Given the description of an element on the screen output the (x, y) to click on. 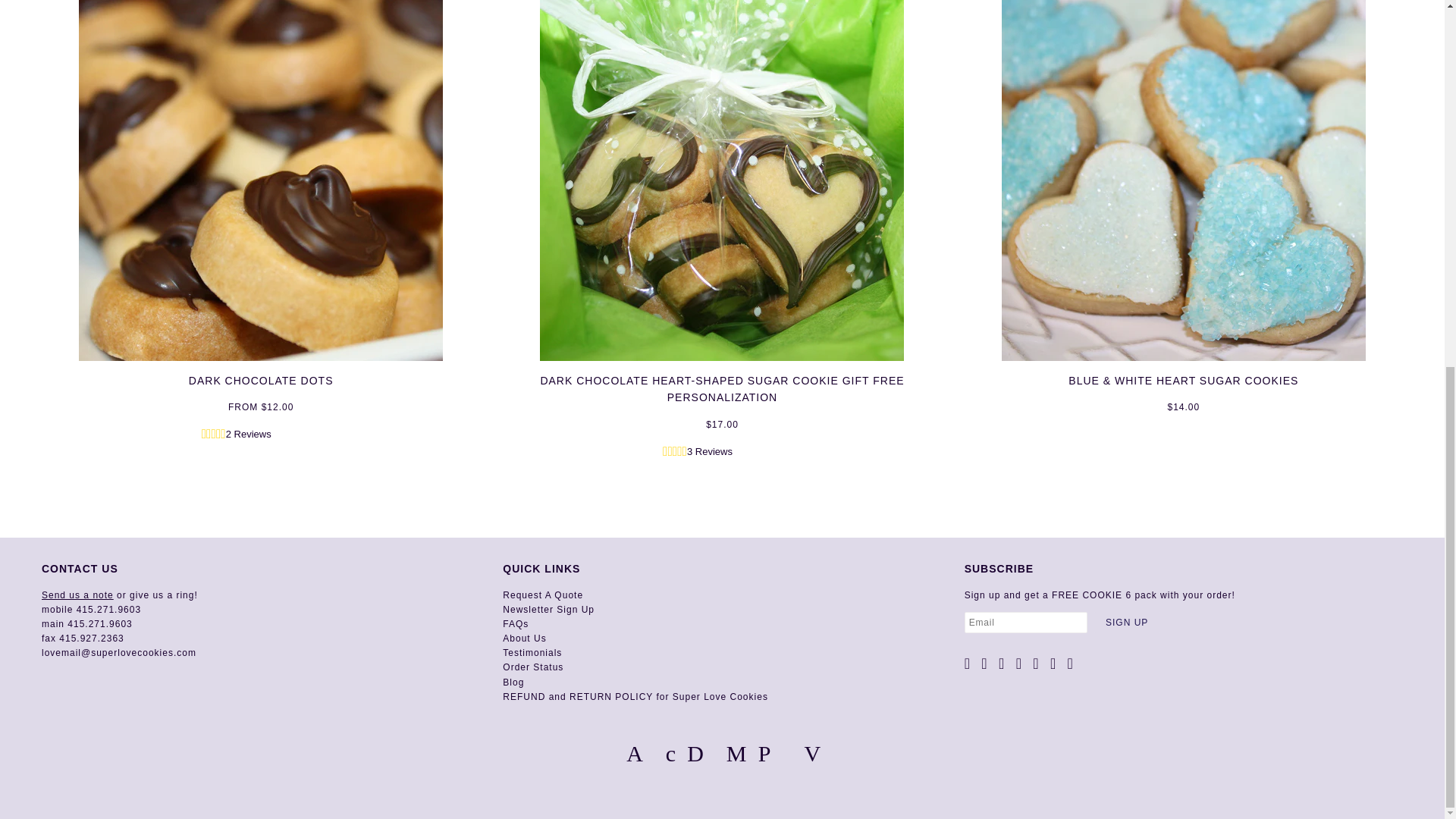
REFUND and RETURN POLICY for Super Love Cookies (635, 696)
Request A Quote (542, 594)
Blog (513, 682)
FAQs (515, 624)
About Us (524, 638)
Testimonials (532, 652)
Order Status (532, 666)
SIGN UP (1126, 622)
Newsletter Sign Up (548, 609)
